Given the description of an element on the screen output the (x, y) to click on. 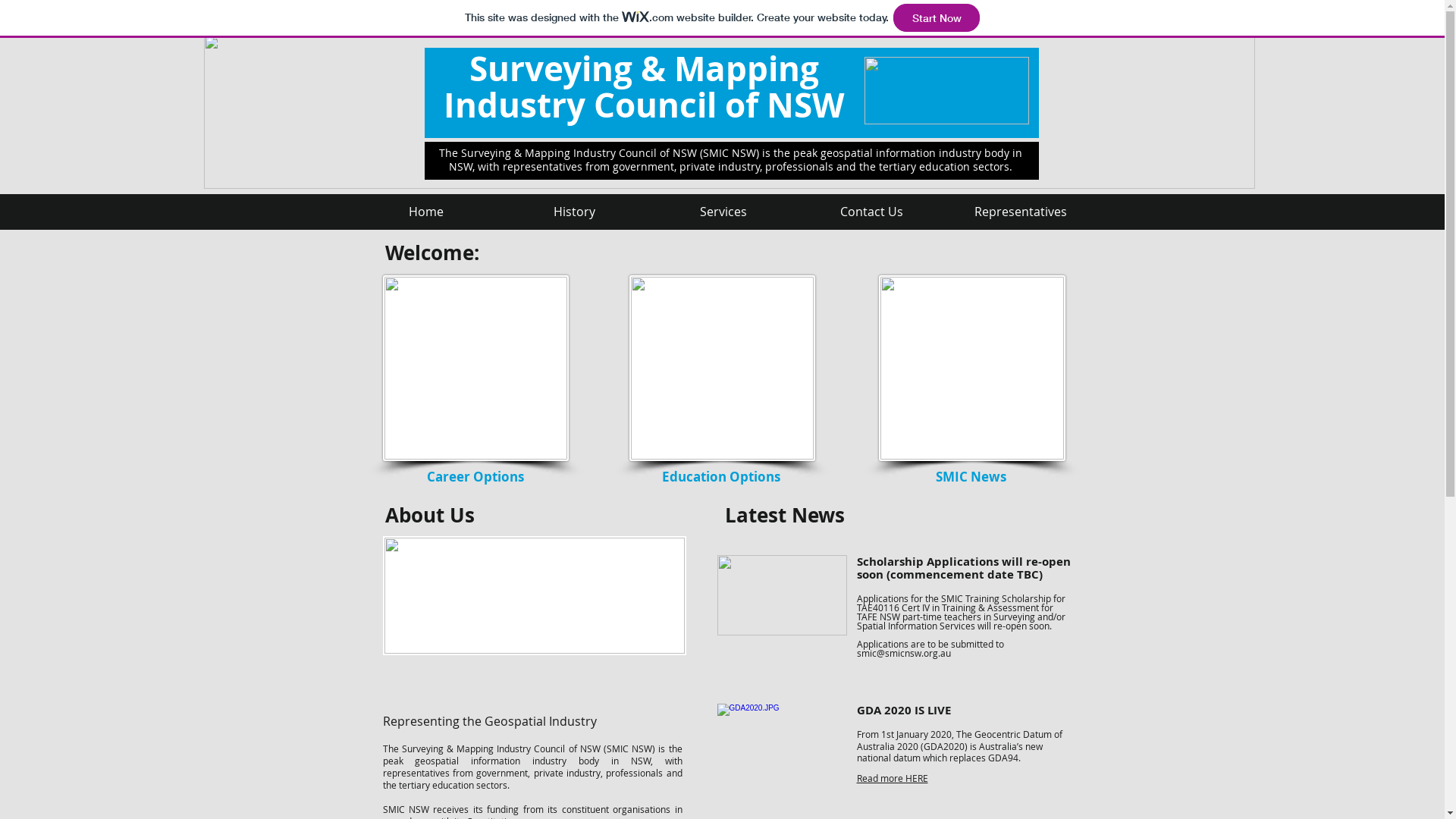
ISNW Element type: hover (533, 595)
smic@smicnsw.org.au Element type: text (903, 652)
SMIC Logo.JPG Element type: hover (946, 90)
Skyscraper Horizontal Element type: hover (728, 111)
Contact Us Element type: text (871, 211)
History Element type: text (574, 211)
Services Element type: text (723, 211)
Representatives Element type: text (1020, 211)
Read more HERE Element type: text (892, 777)
Home Element type: text (425, 211)
